Given the description of an element on the screen output the (x, y) to click on. 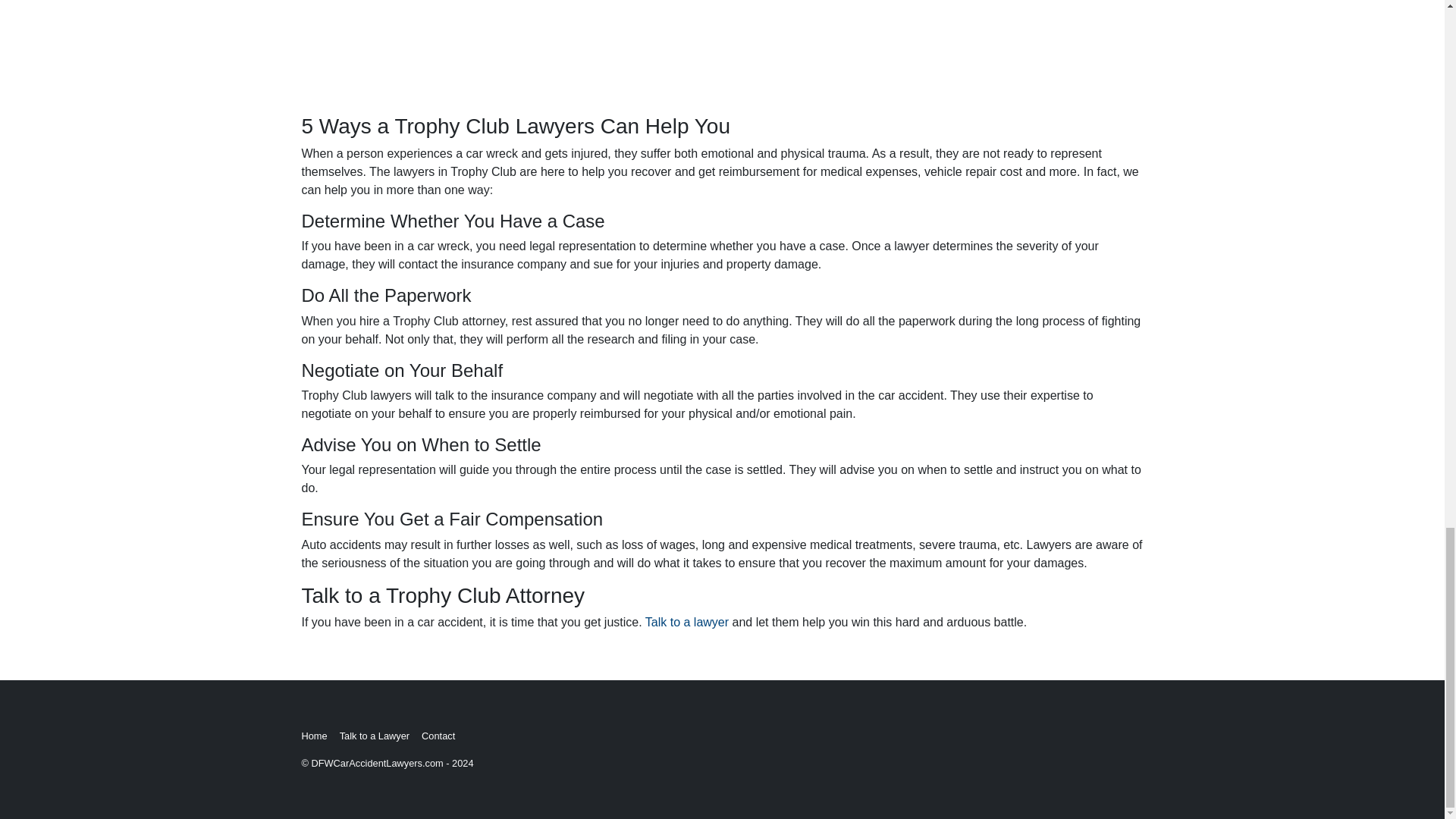
Home (320, 735)
Contact (444, 735)
Talk to a lawyer (687, 621)
Talk to a Lawyer (380, 735)
